Given the description of an element on the screen output the (x, y) to click on. 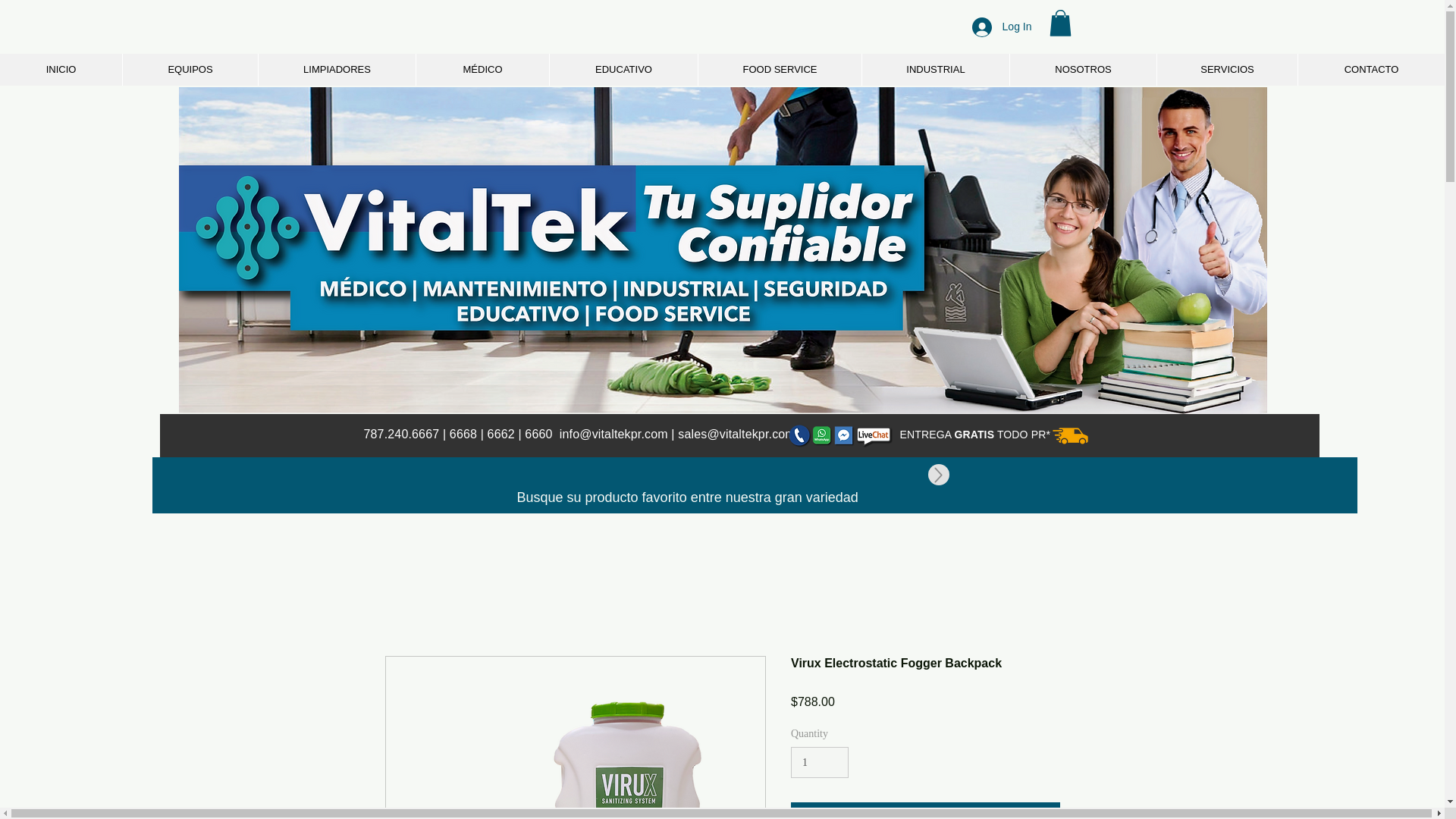
FOOD SERVICE (779, 69)
LIMPIADORES (335, 69)
Log In (1001, 27)
INDUSTRIAL (935, 69)
EDUCATIVO (622, 69)
INICIO (61, 69)
1 (819, 762)
EQUIPOS (189, 69)
